Given the description of an element on the screen output the (x, y) to click on. 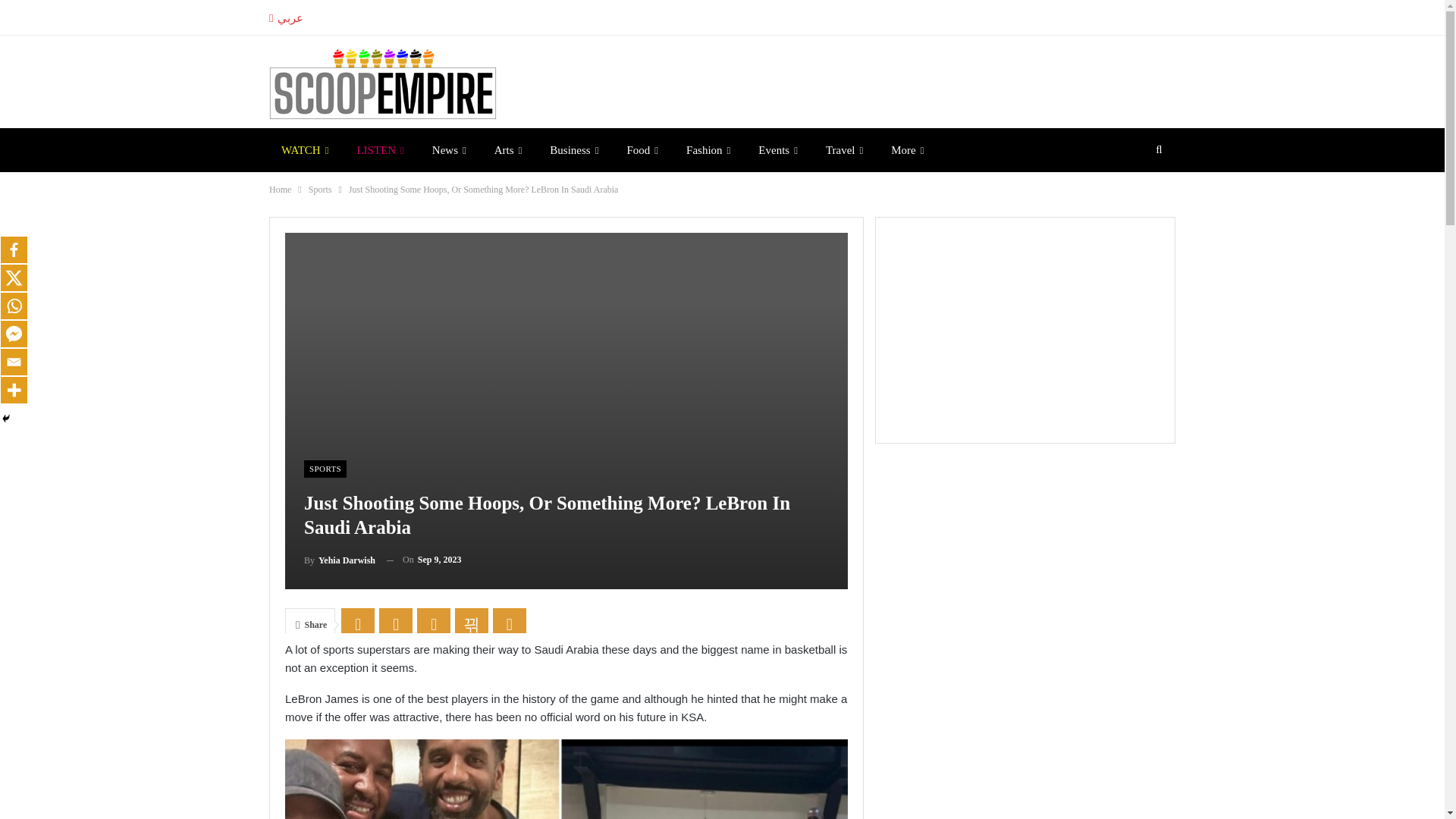
Arts (507, 149)
WATCH (304, 149)
LISTEN (378, 149)
Business (573, 149)
News (449, 149)
